Given the description of an element on the screen output the (x, y) to click on. 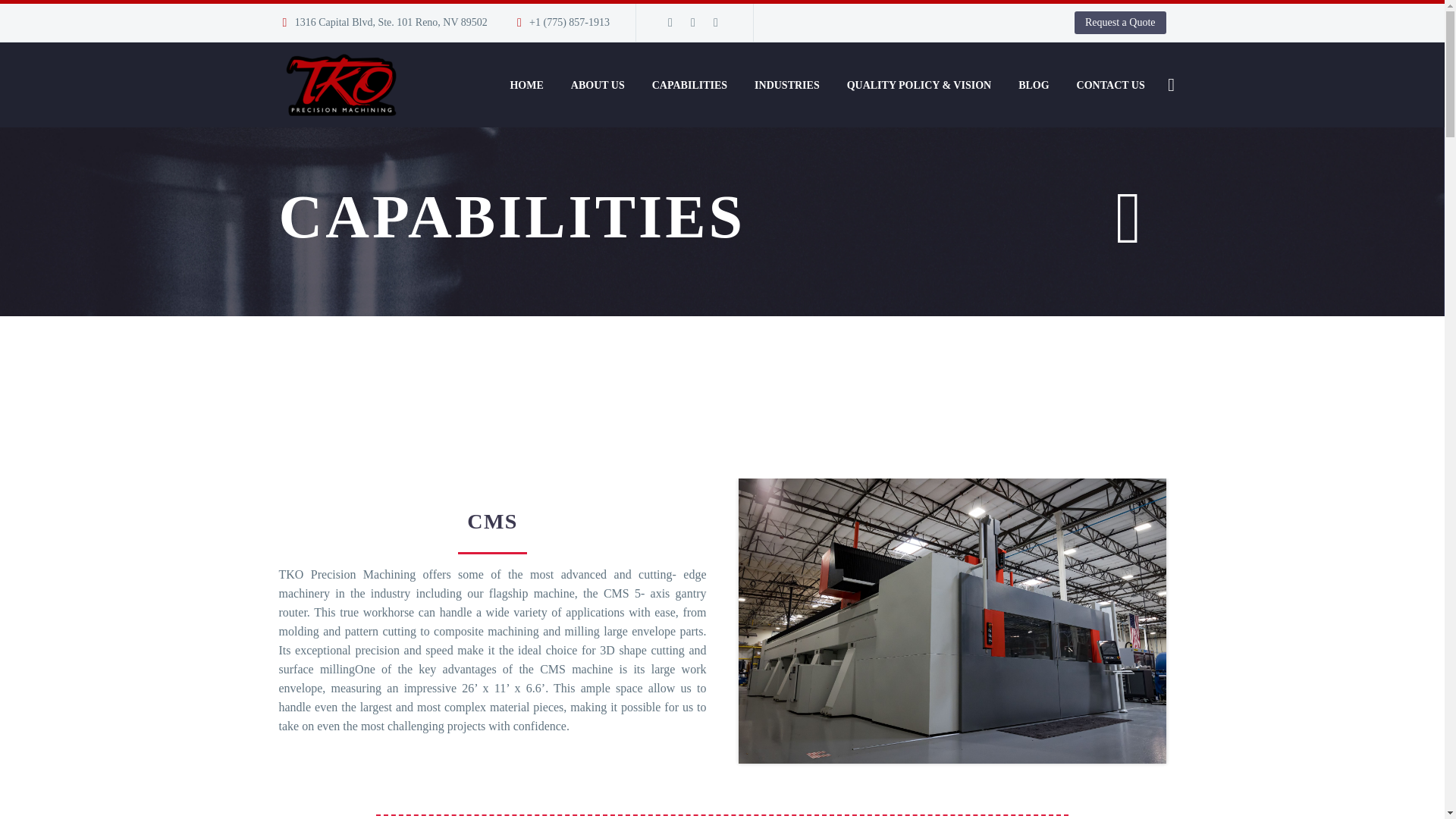
CAPABILITIES (689, 85)
INDUSTRIES (786, 85)
CONTACT US (1110, 85)
Instagram (692, 22)
Request a Quote (1120, 22)
Facebook (670, 22)
YouTube (715, 22)
BLOG (1033, 85)
ABOUT US (597, 85)
HOME (525, 85)
